Given the description of an element on the screen output the (x, y) to click on. 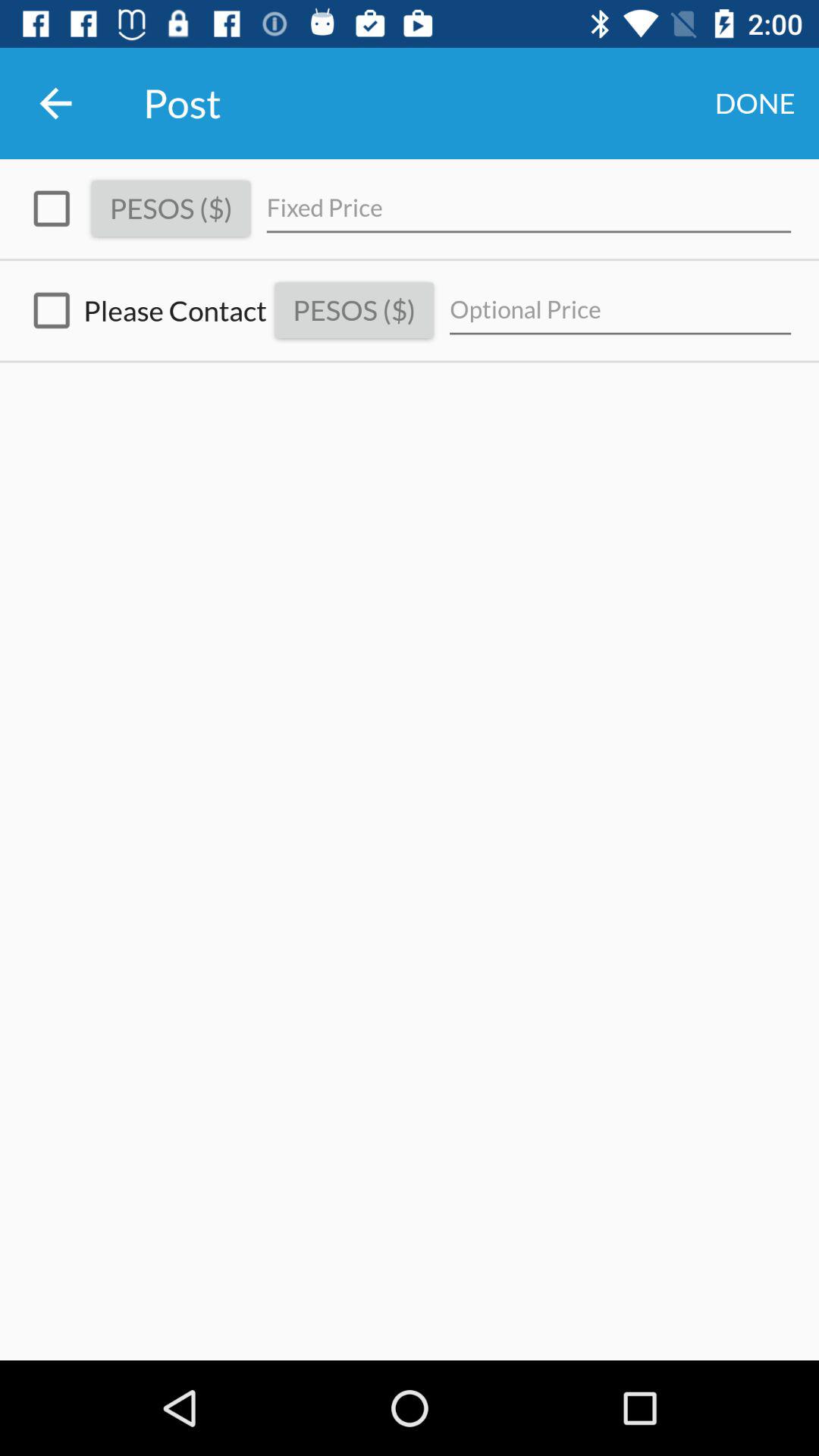
turn off the icon next to the post icon (55, 103)
